Given the description of an element on the screen output the (x, y) to click on. 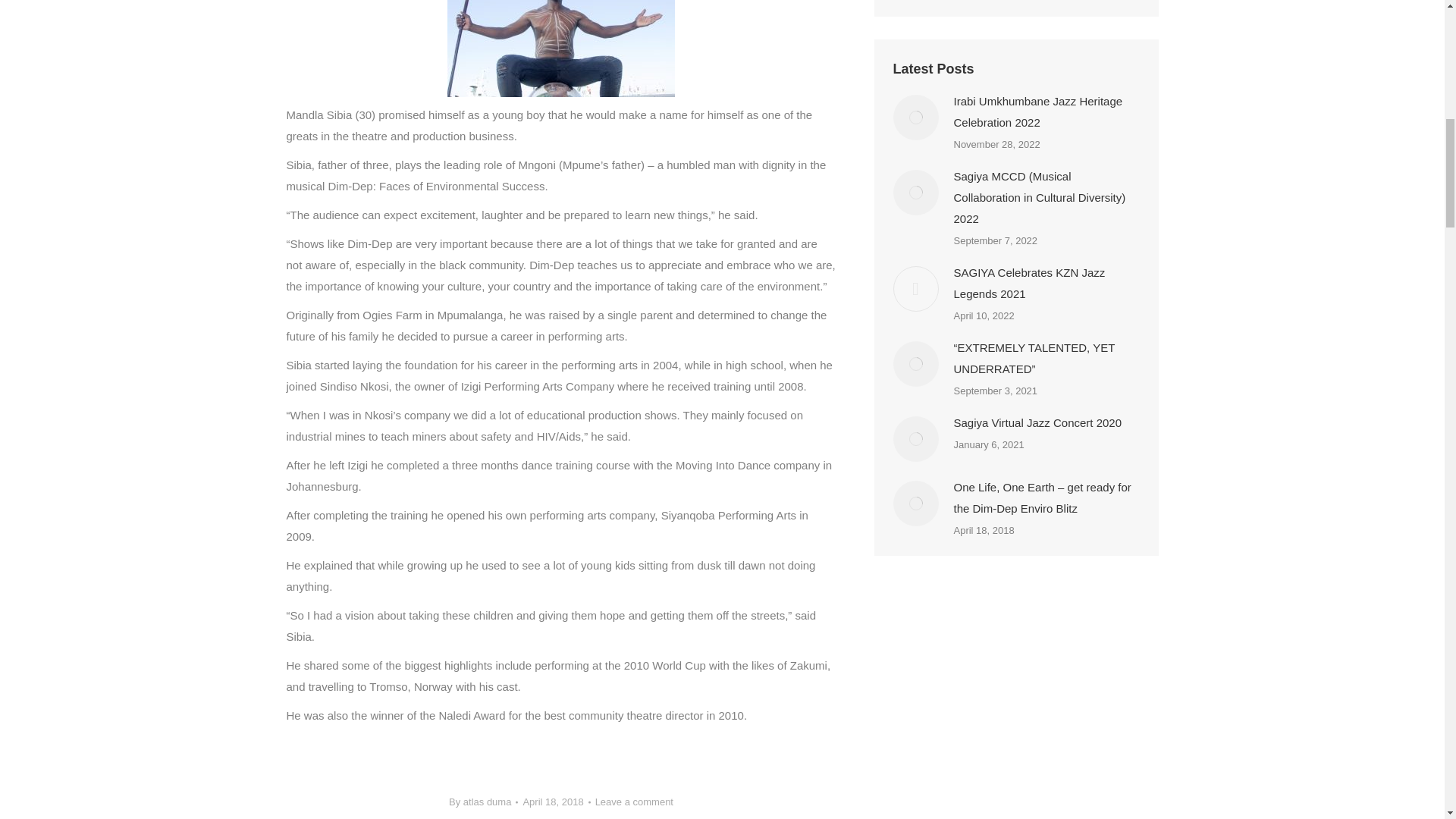
Go! (1114, 1)
Go! (1114, 1)
